Given the description of an element on the screen output the (x, y) to click on. 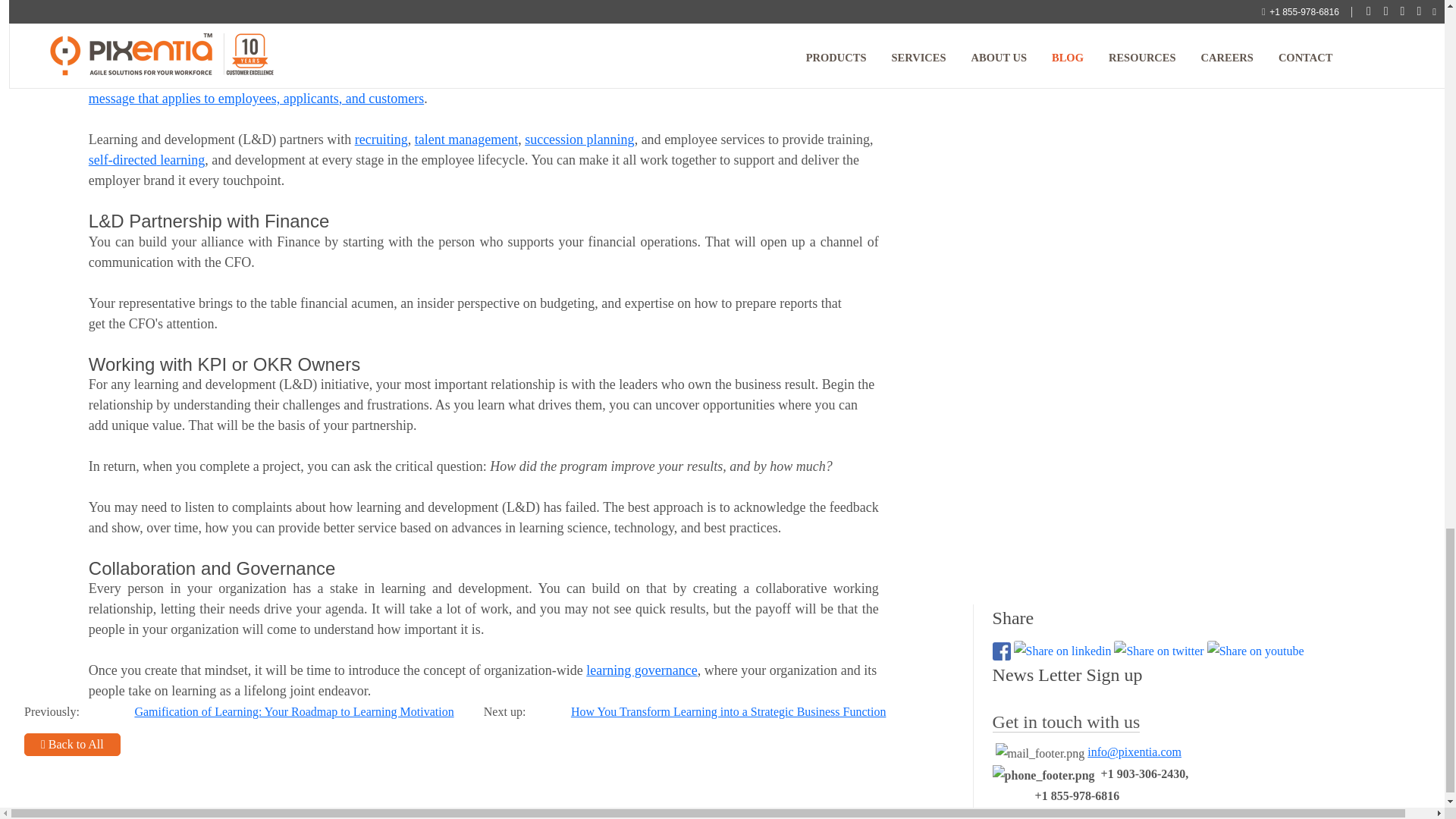
succession planning (578, 139)
talent management (466, 139)
self-directed  (124, 159)
learning (182, 159)
recruiting (381, 139)
Marketing (116, 77)
learning governance (641, 670)
